Given the description of an element on the screen output the (x, y) to click on. 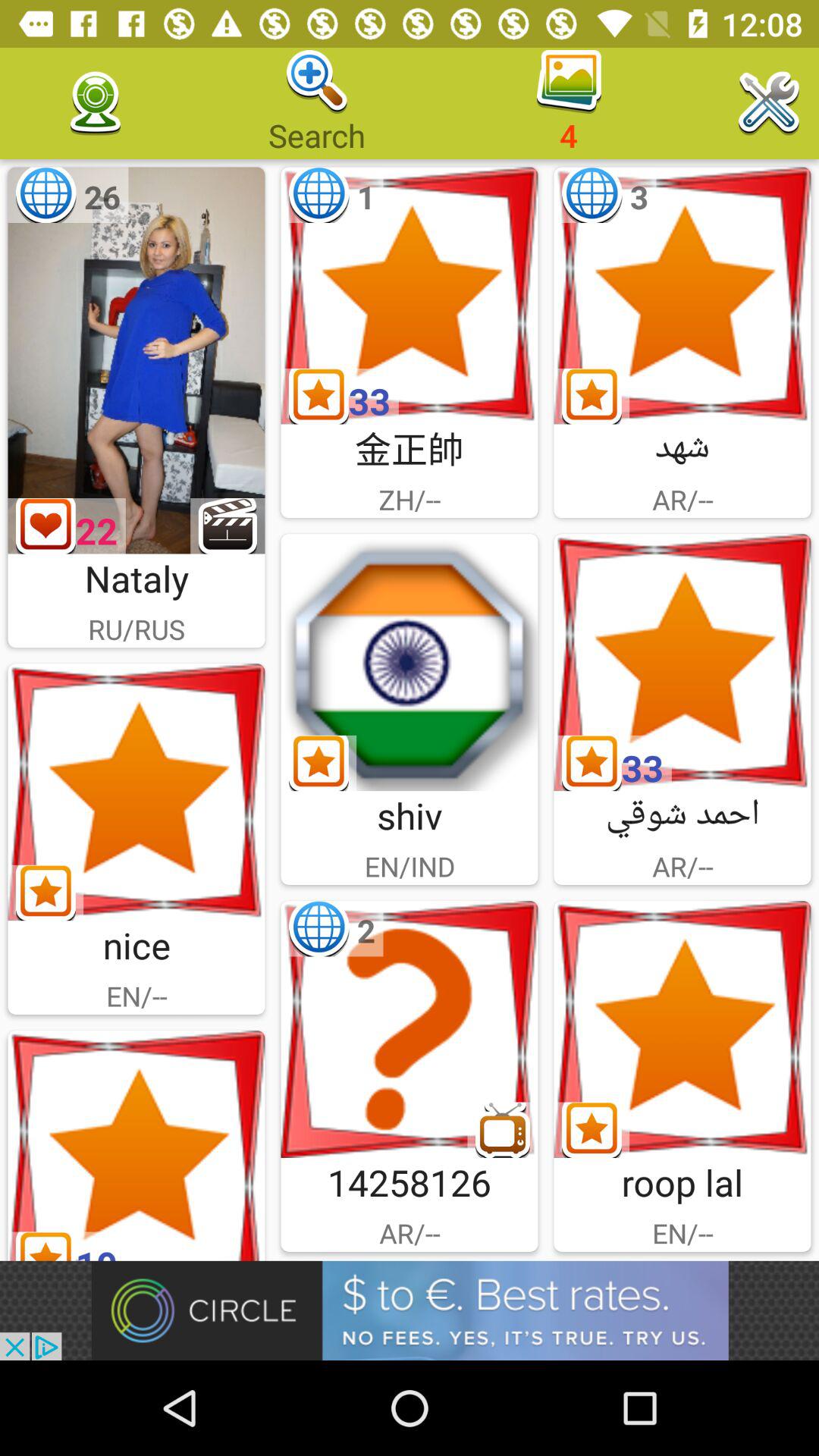
open picture (409, 662)
